Given the description of an element on the screen output the (x, y) to click on. 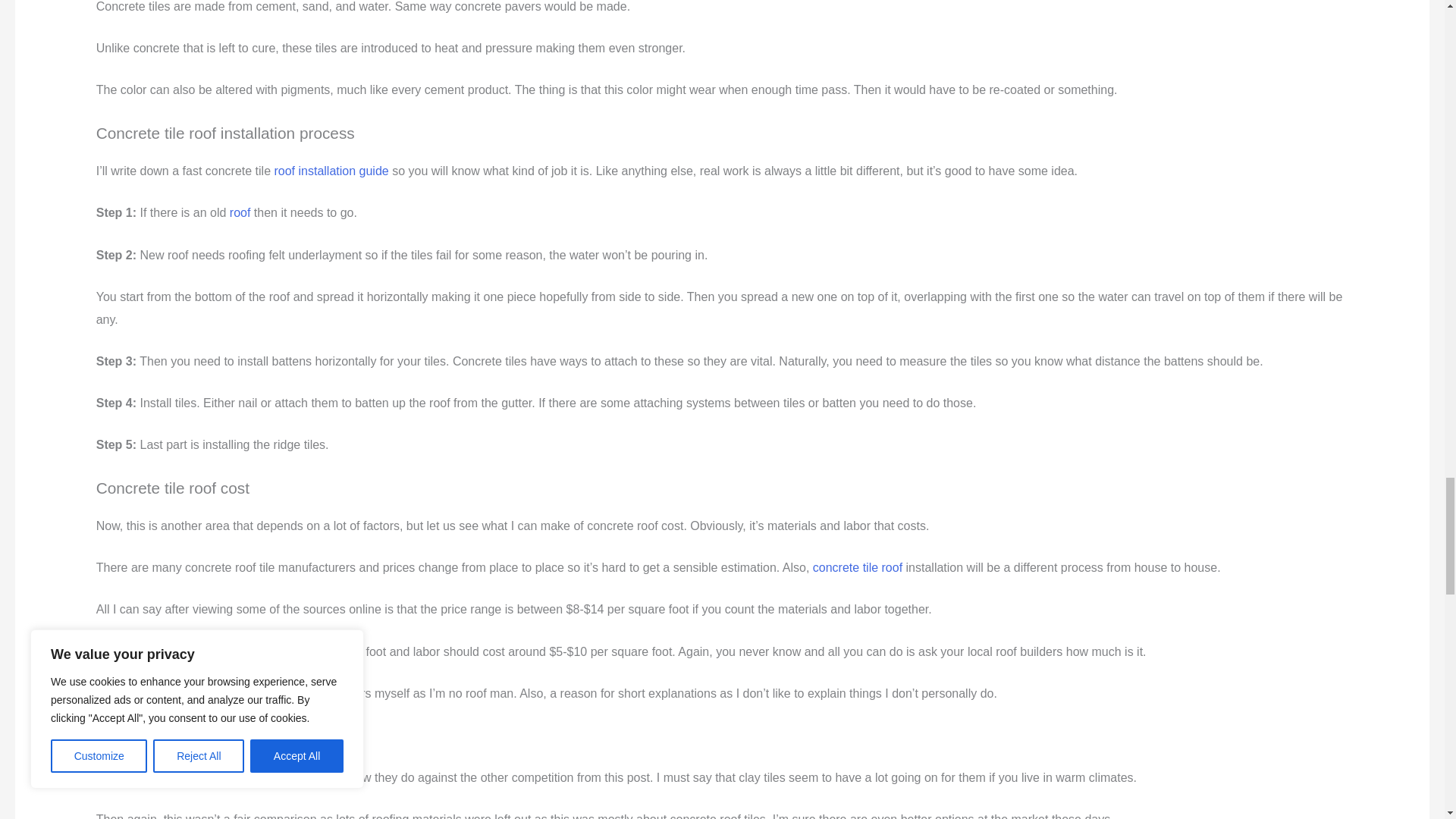
roof (240, 212)
concrete tile roof (857, 567)
roof installation guide (330, 170)
